Given the description of an element on the screen output the (x, y) to click on. 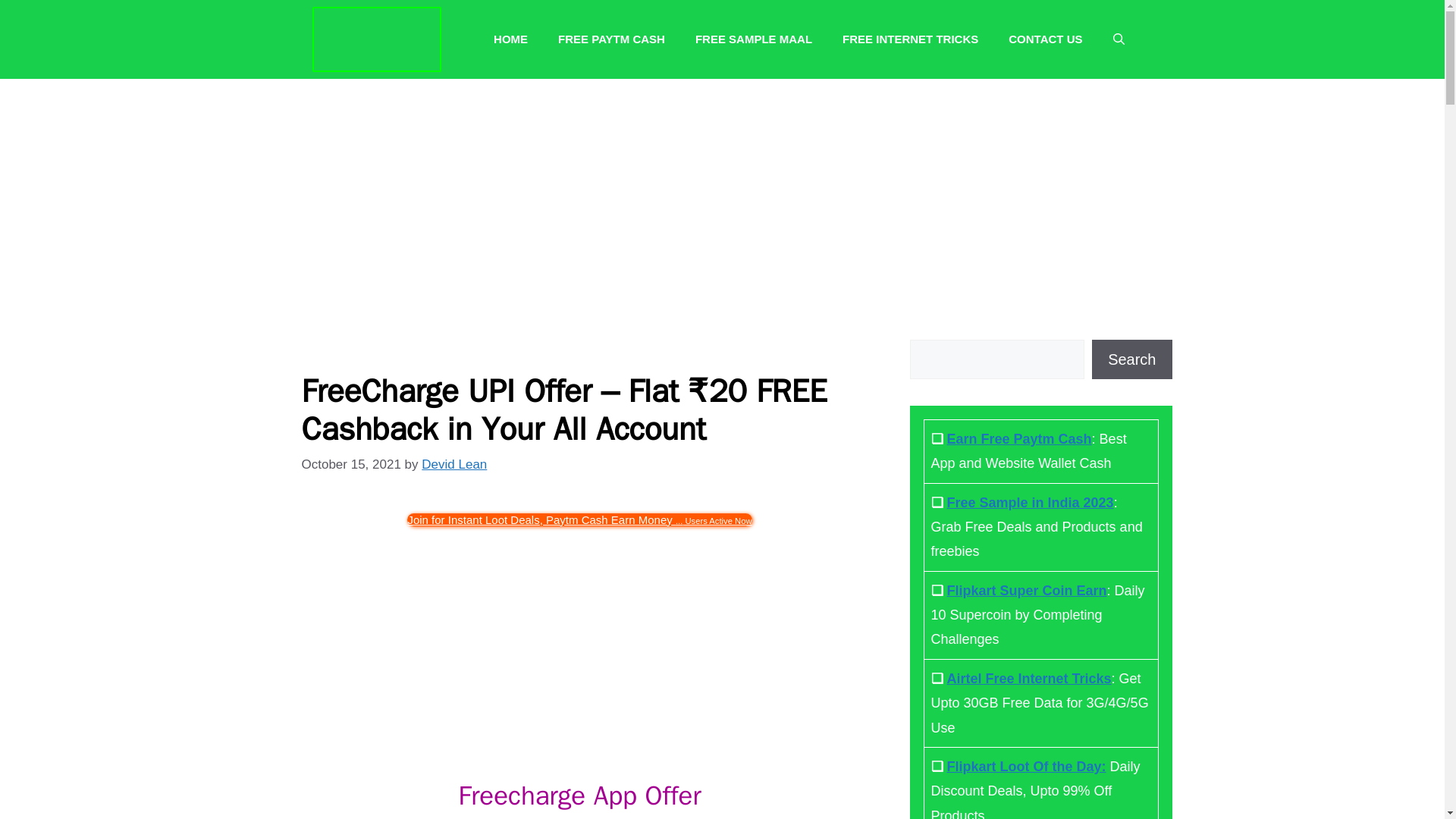
FREE SAMPLE MAAL (753, 39)
CONTACT US (1044, 39)
FREE INTERNET TRICKS (909, 39)
HOME (511, 39)
hi (579, 518)
Devid Lean (454, 464)
FREE PAYTM CASH (611, 39)
View all posts by Devid Lean (454, 464)
